Given the description of an element on the screen output the (x, y) to click on. 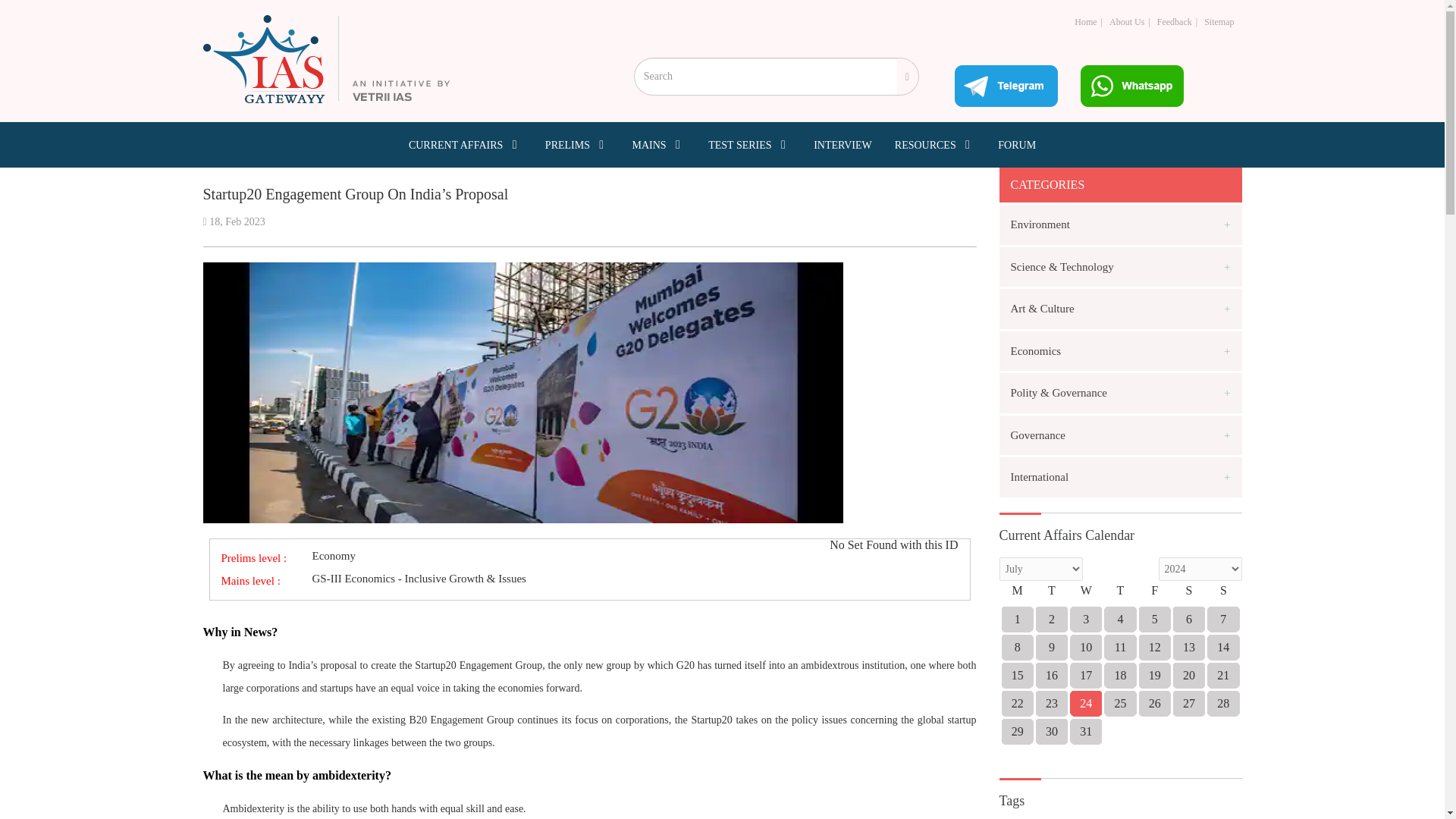
Home (1085, 21)
CURRENT AFFAIRS (465, 144)
PRELIMS (577, 144)
MAINS (658, 144)
TEST SERIES (748, 144)
About Us (1126, 21)
IAS Gatewayy (326, 59)
Sitemap (1218, 21)
Feedback (1174, 21)
